Given the description of an element on the screen output the (x, y) to click on. 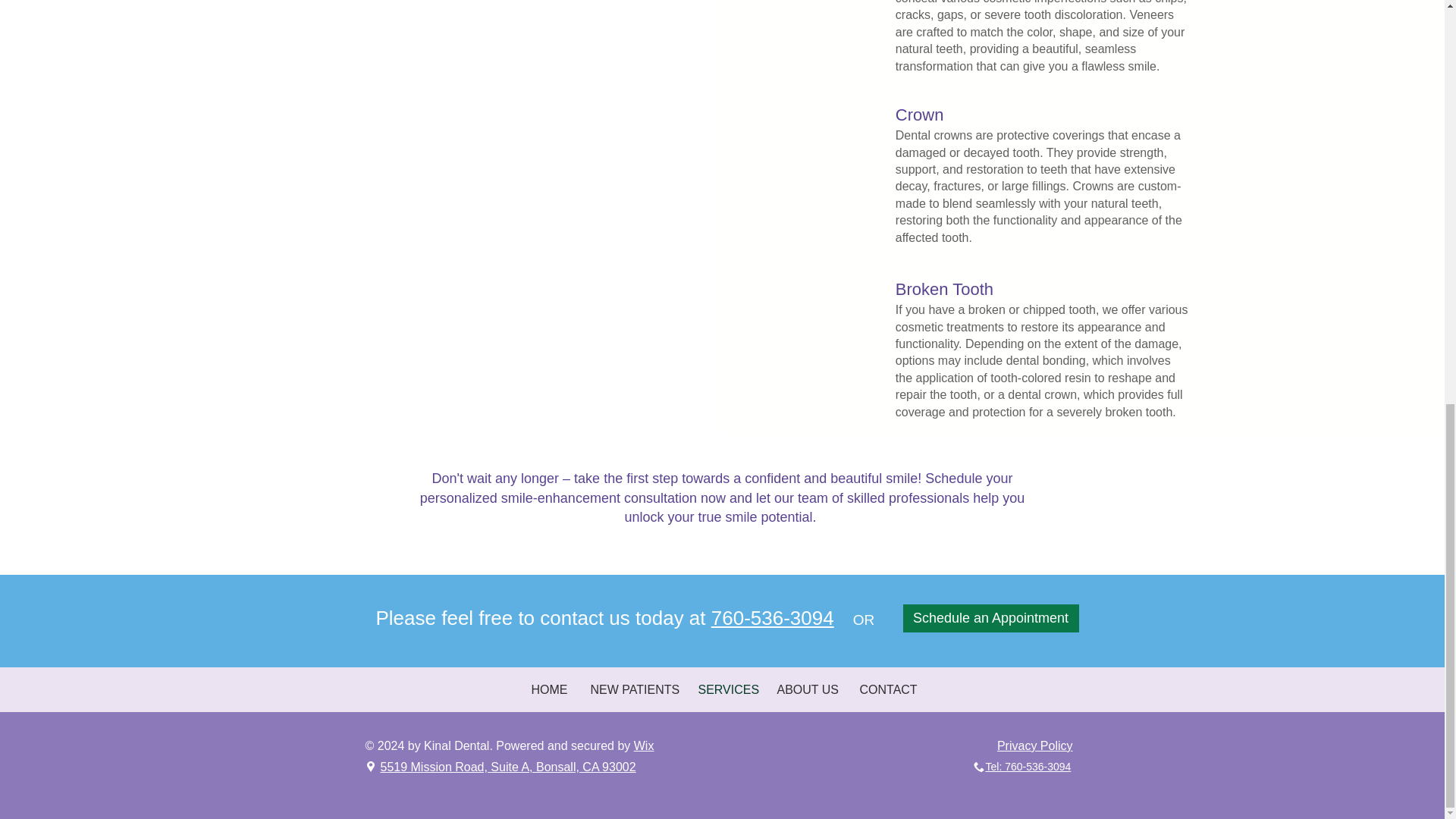
Schedule an Appointment (990, 618)
CONTACT (887, 689)
5519 Mission Road, Suite A, Bonsall, CA 93002 (508, 766)
ABOUT US (806, 689)
SERVICES (726, 689)
NEW PATIENTS (633, 689)
Tel: 760-536-3094 (1028, 766)
HOME (549, 689)
Privacy Policy (1035, 745)
Wix (643, 745)
